Given the description of an element on the screen output the (x, y) to click on. 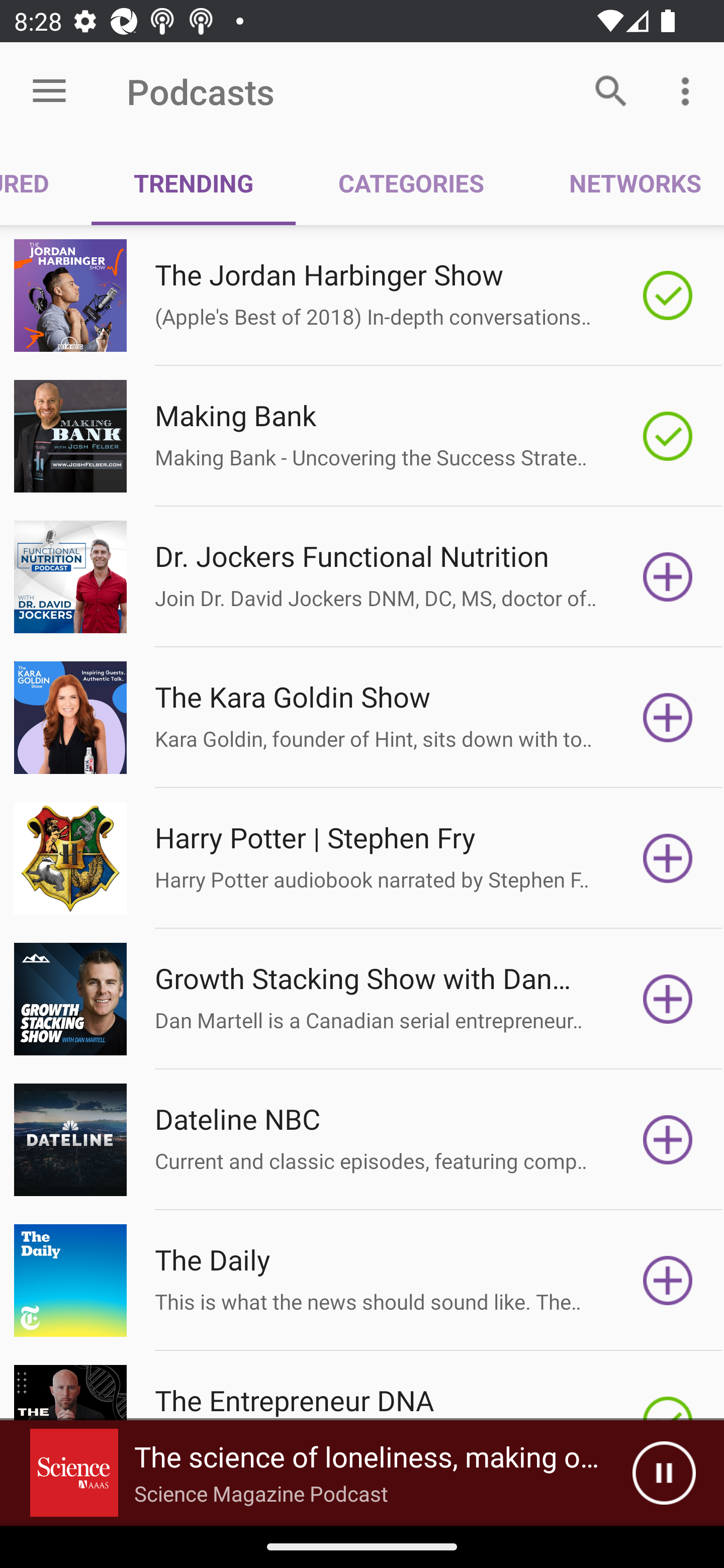
Open menu (49, 91)
Search (611, 90)
More options (688, 90)
TRENDING (193, 183)
CATEGORIES (410, 183)
NETWORKS (625, 183)
Subscribed (667, 295)
Subscribed (667, 435)
Subscribe (667, 576)
Subscribe (667, 717)
Subscribe (667, 858)
Subscribe (667, 998)
Subscribe (667, 1139)
Subscribe (667, 1280)
Pause (663, 1472)
